Given the description of an element on the screen output the (x, y) to click on. 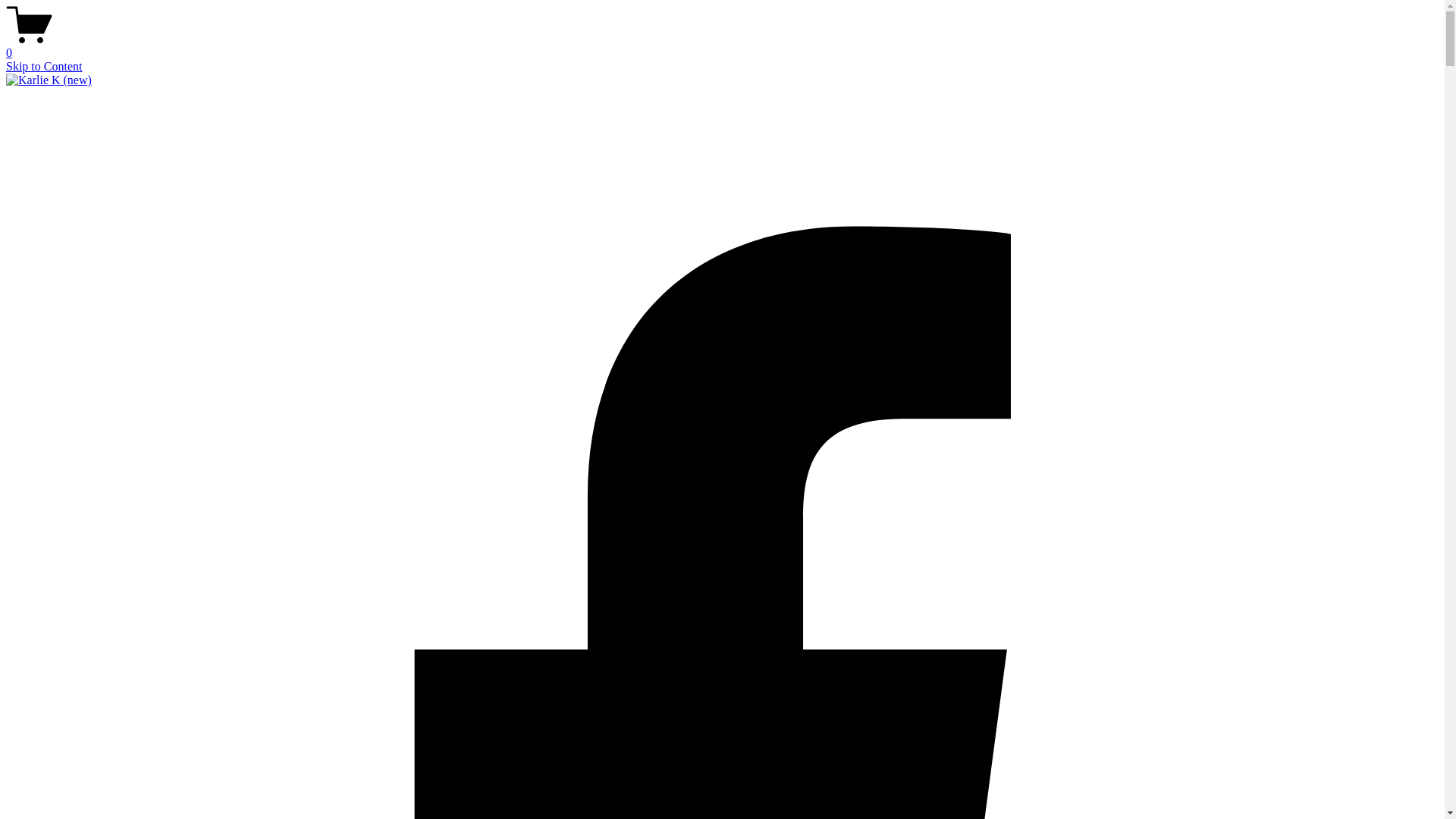
Skip to Content Element type: text (43, 65)
0 Element type: text (722, 45)
